Given the description of an element on the screen output the (x, y) to click on. 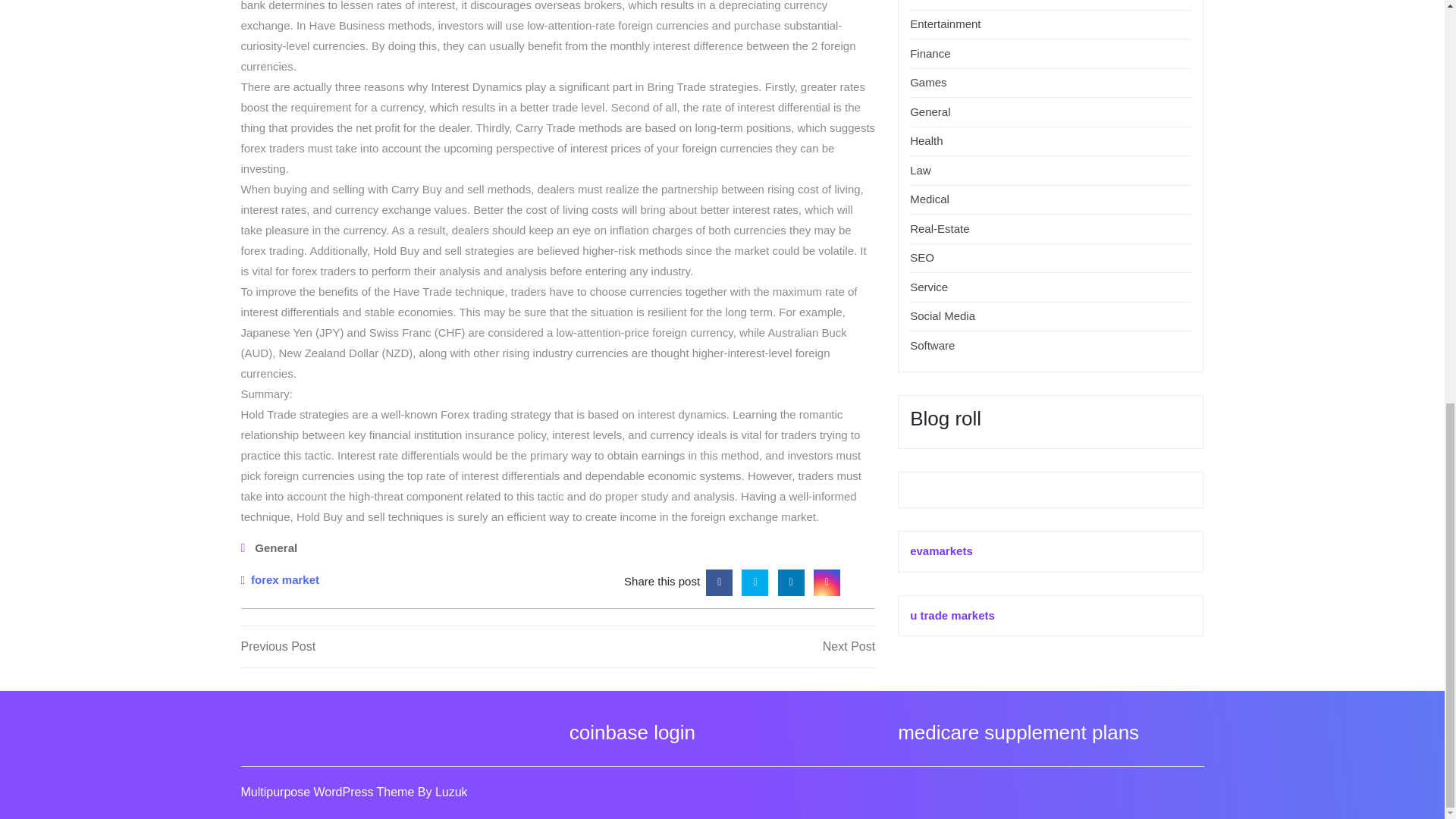
Twitter (754, 581)
Law (920, 169)
SEO (922, 256)
Social Media (942, 315)
Instagram (826, 581)
Education (716, 647)
Games (935, 0)
Linkedin (928, 82)
Real-Estate (791, 581)
Entertainment (939, 228)
forex market (944, 23)
Finance (284, 578)
Facebook (930, 52)
Medical (719, 581)
